Given the description of an element on the screen output the (x, y) to click on. 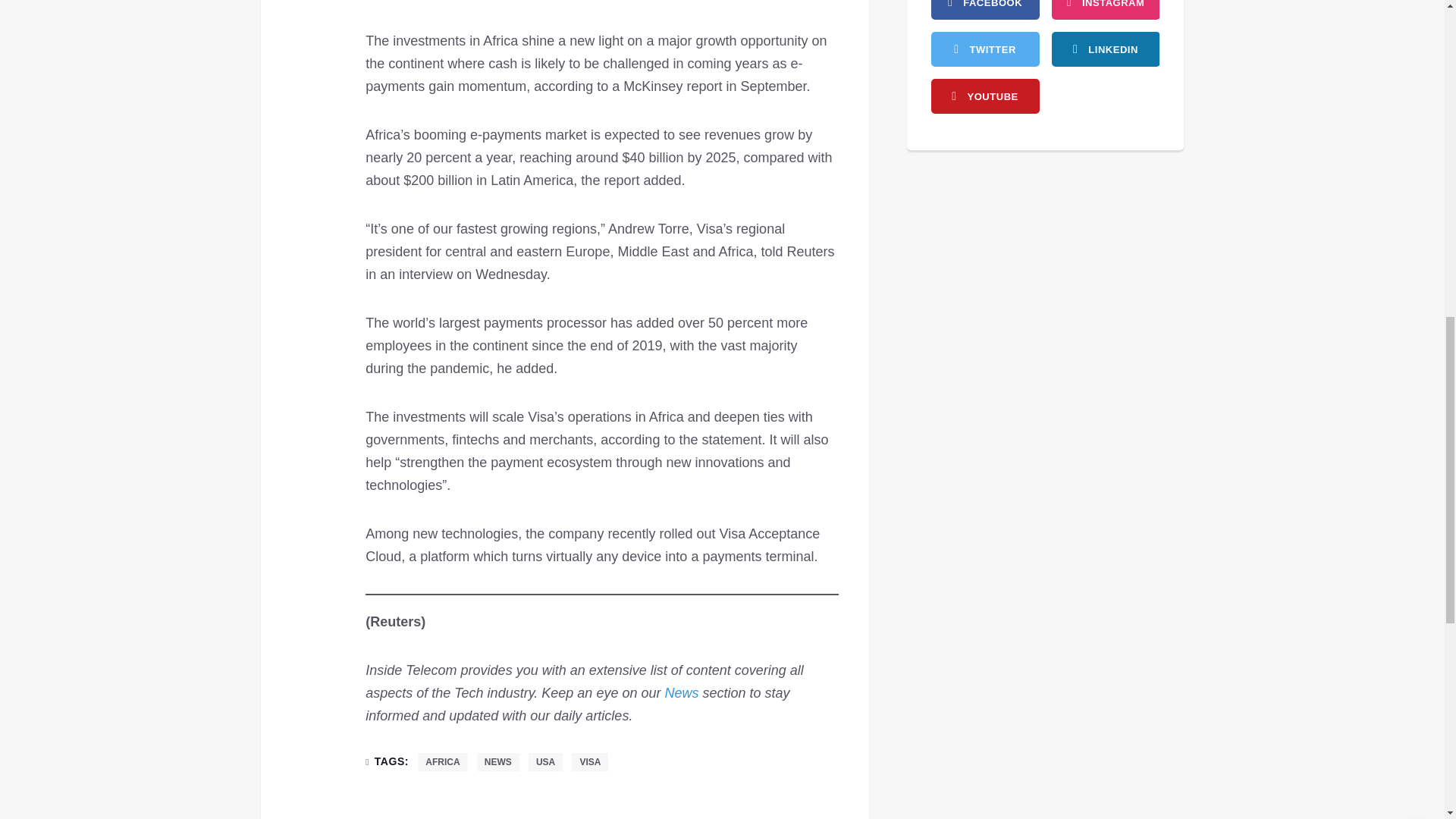
facebook (985, 9)
instagram (1104, 9)
twitter (985, 48)
youtube (985, 95)
rss (1104, 48)
